Given the description of an element on the screen output the (x, y) to click on. 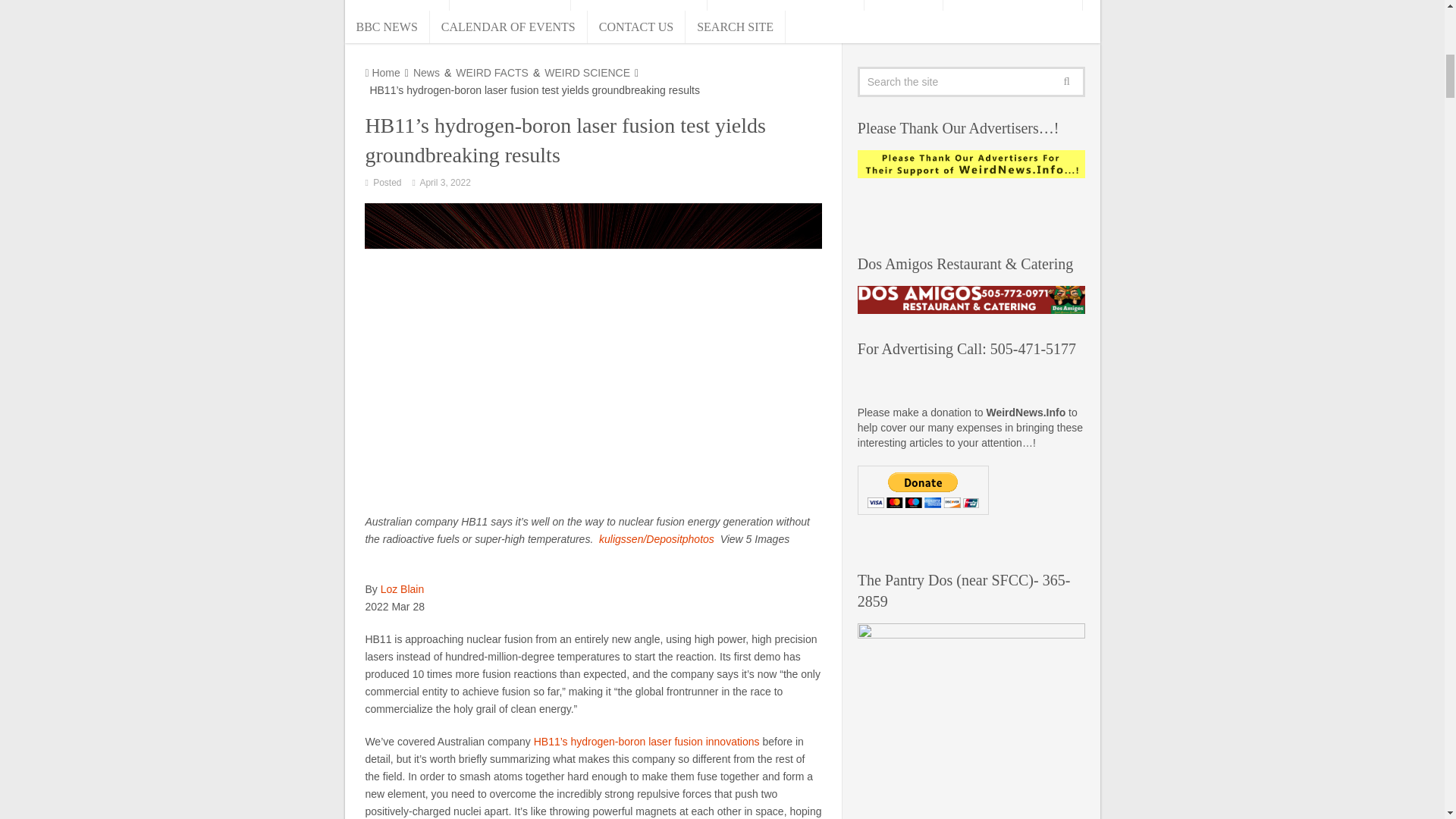
BBC NEWS (386, 26)
SURVIVAL STUFF (509, 4)
CALENDAR OF EVENTS (508, 26)
ANIMALS (903, 4)
SCAM ALERTS (396, 4)
WEIRD NEWS ARCHIVE (785, 4)
Posts by Posted (386, 182)
CONTACT US (636, 26)
